Given the description of an element on the screen output the (x, y) to click on. 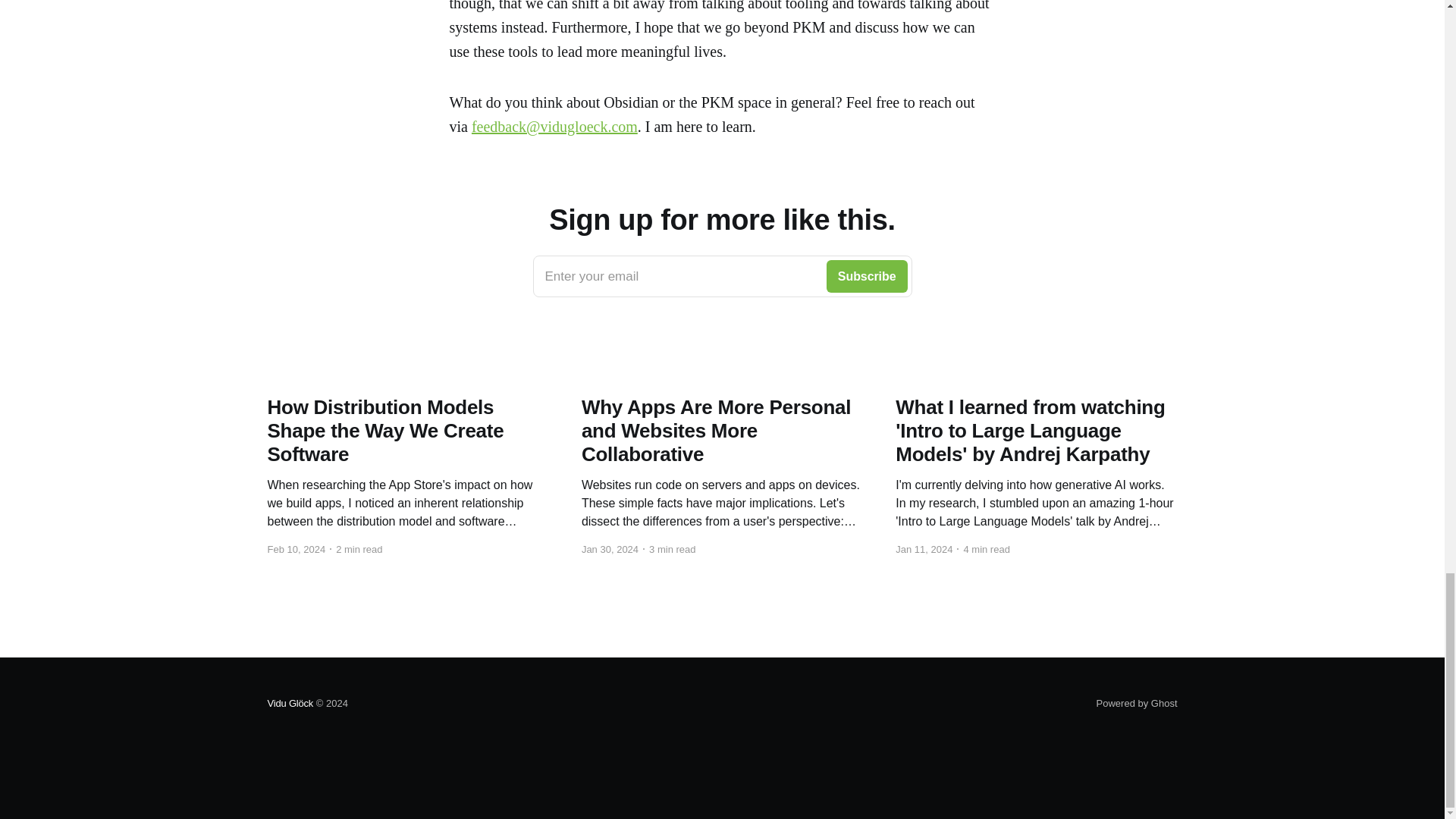
Powered by Ghost (1136, 703)
